Given the description of an element on the screen output the (x, y) to click on. 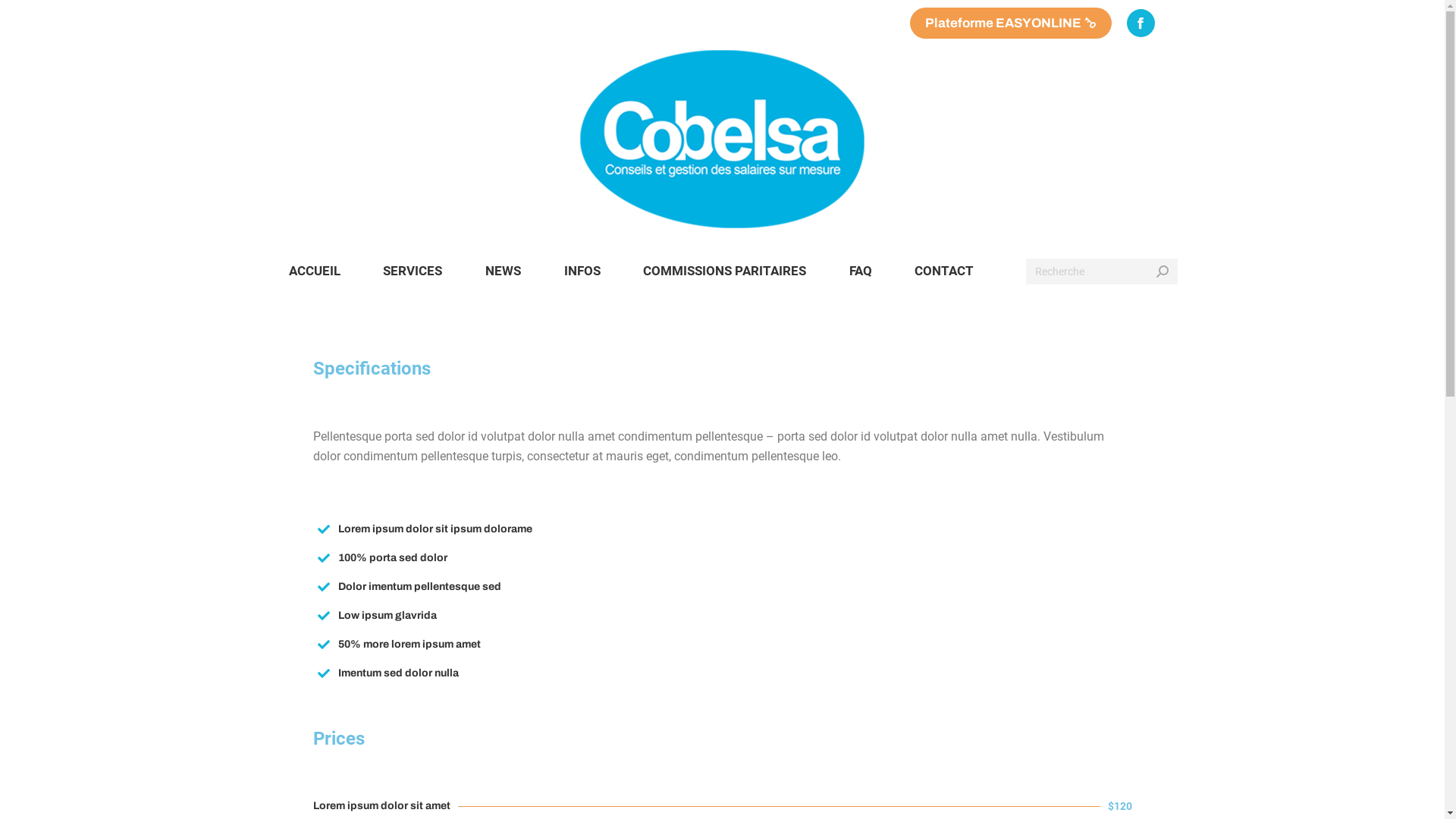
CONTACT Element type: text (944, 270)
COMMISSIONS PARITAIRES Element type: text (724, 270)
Dolor imentum pellentesque sed Element type: text (419, 586)
50% more lorem ipsum amet Element type: text (409, 643)
SERVICES Element type: text (412, 270)
Search form Element type: hover (1100, 270)
Low ipsum glavrida Element type: text (387, 615)
FAQ Element type: text (860, 270)
Imentum sed dolor nulla Element type: text (398, 672)
Facebook page opens in new window Element type: hover (1140, 23)
Plateforme EASYONLINE Element type: text (1010, 22)
ACCUEIL Element type: text (313, 270)
INFOS Element type: text (581, 270)
Aller ! Element type: text (27, 15)
100% porta sed dolor Element type: text (392, 557)
NEWS Element type: text (503, 270)
Lorem ipsum dolor sit ipsum dolorame Element type: text (435, 528)
